Given the description of an element on the screen output the (x, y) to click on. 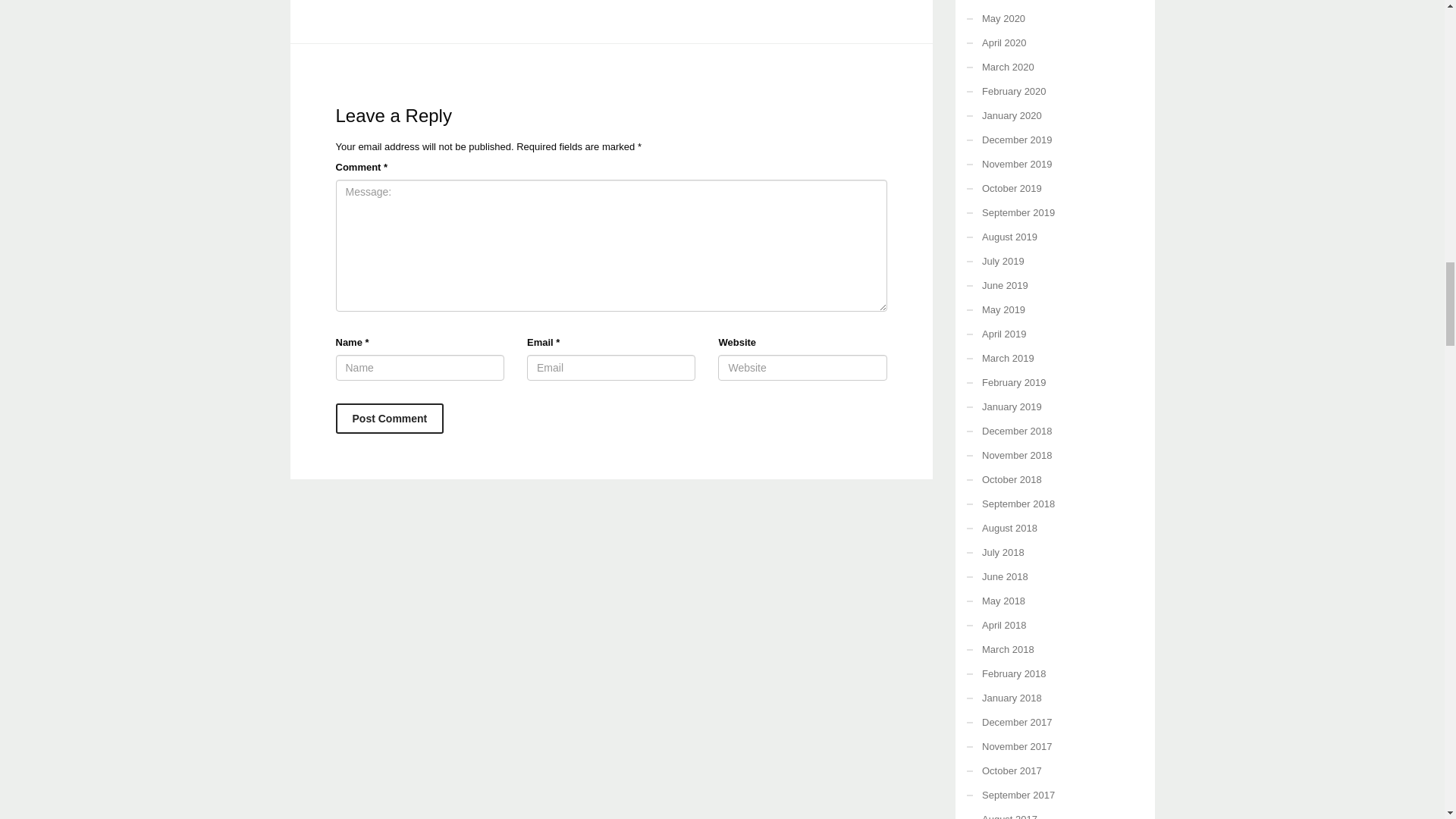
Post Comment (389, 418)
